Given the description of an element on the screen output the (x, y) to click on. 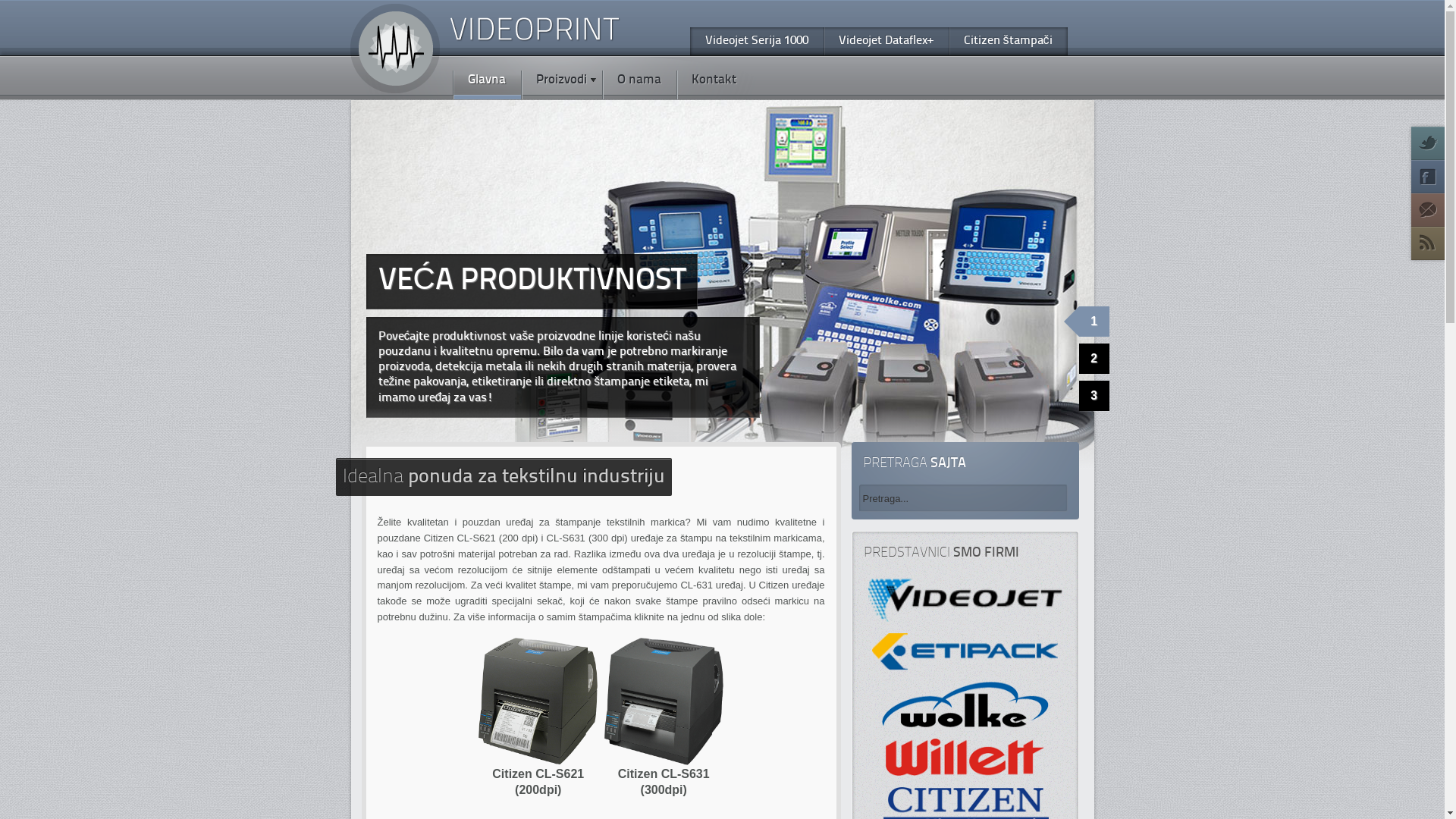
Idealna ponuda za tekstilnu industriju Element type: text (503, 477)
Citizen CL-S631 Element type: hover (663, 701)
Kontakt Element type: text (713, 77)
Videojet Dataflex+ Element type: text (885, 41)
Citizen CL-S621 Element type: hover (537, 700)
Glavna Element type: text (485, 77)
Videojet Serija 1000 Element type: text (756, 41)
Willett Element type: hover (964, 756)
Videojet Element type: hover (964, 599)
Etipack Element type: hover (964, 651)
Wolke Element type: hover (964, 704)
O nama Element type: text (639, 77)
Proizvodi Element type: text (560, 77)
